Given the description of an element on the screen output the (x, y) to click on. 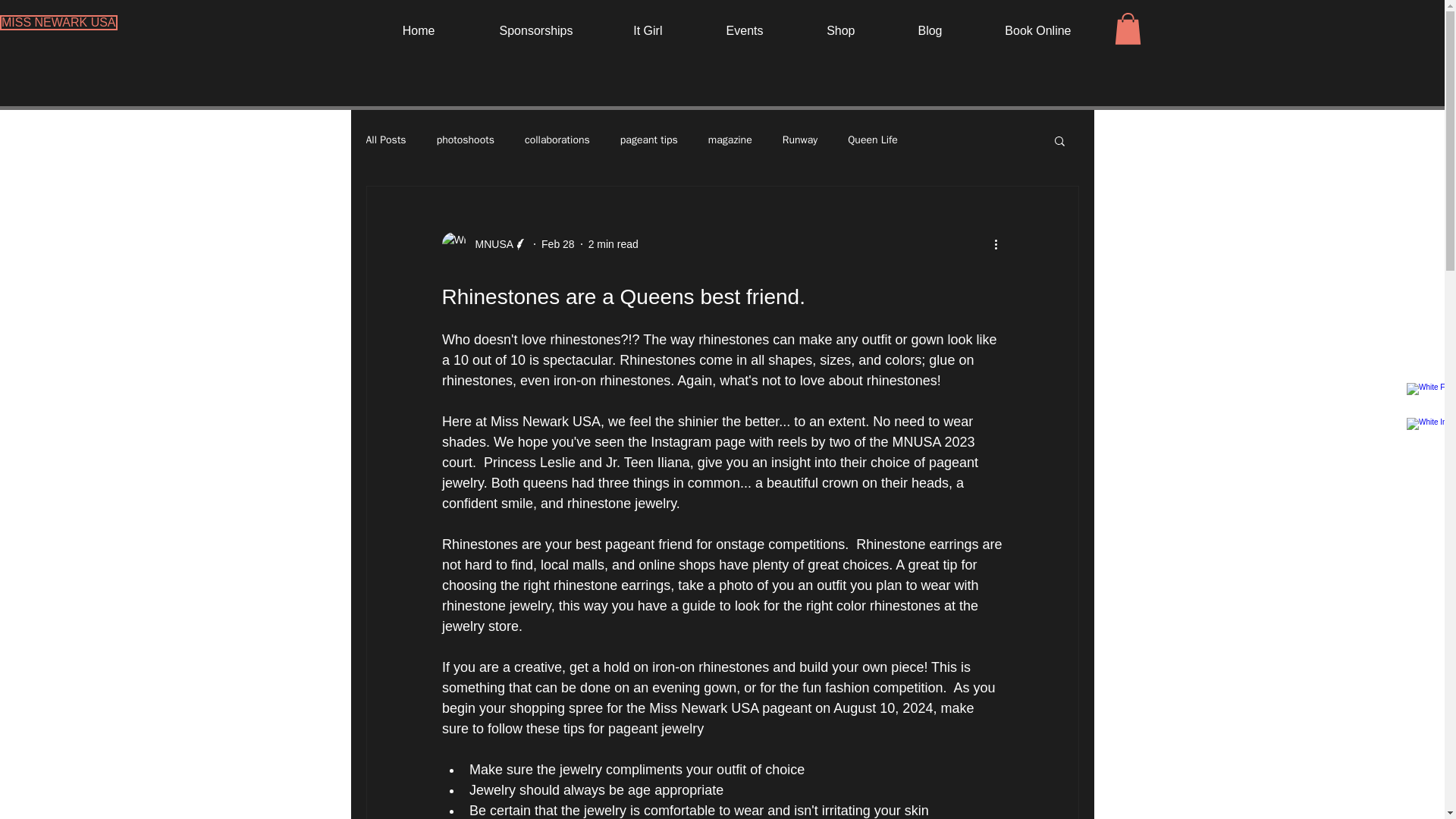
Runway (799, 140)
Queen Life (872, 140)
Sponsorships (514, 30)
MNUSA (484, 243)
Feb 28 (558, 244)
Book Online (1018, 30)
photoshoots (465, 140)
pageant tips (649, 140)
Events (723, 30)
MNUSA (489, 244)
